Given the description of an element on the screen output the (x, y) to click on. 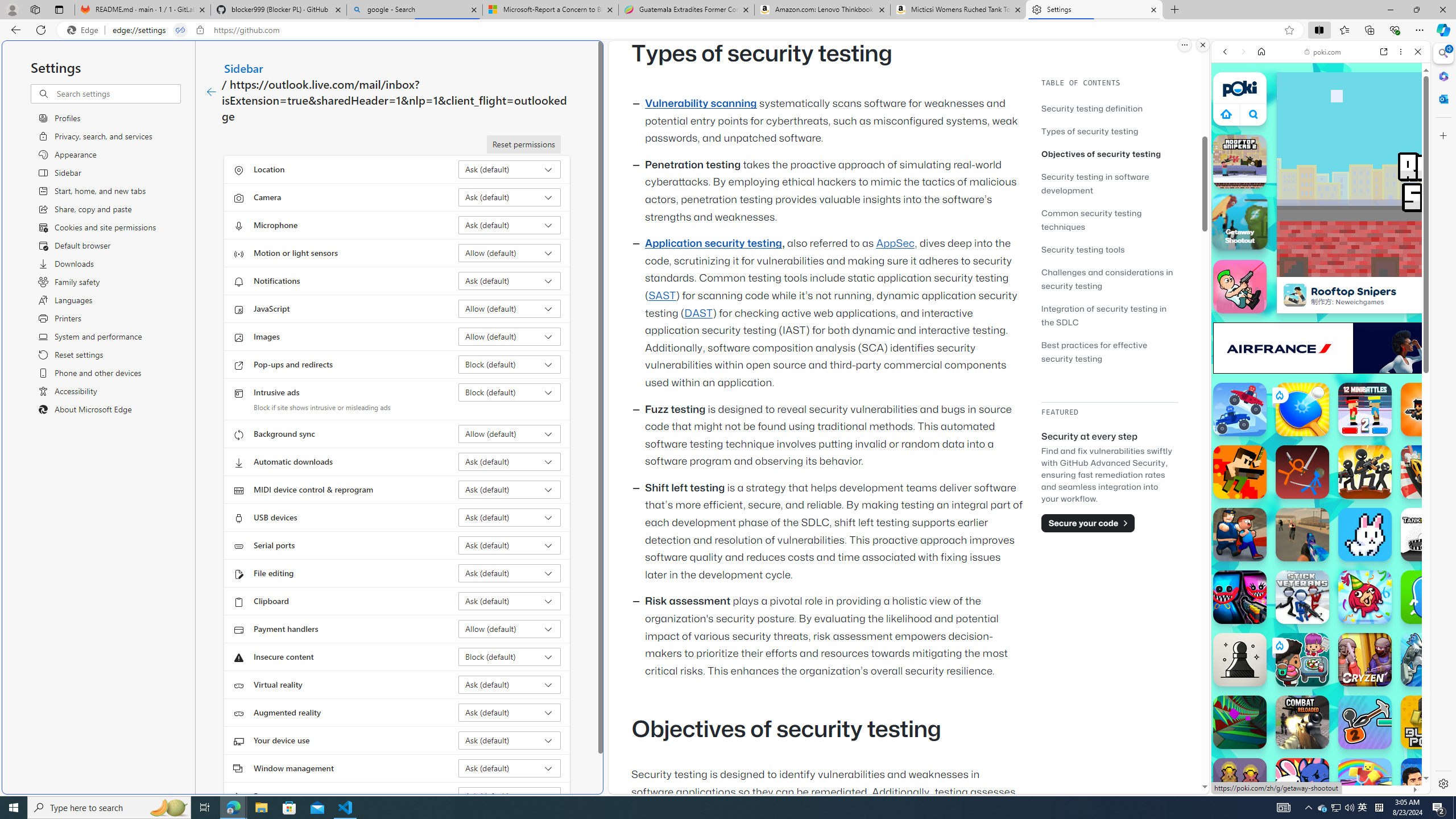
Two Player Games (1320, 323)
Combat Reloaded 2 Combat Reloaded 2 (1302, 534)
Tank Trouble (1427, 534)
Stick Defenders Stick Defenders (1364, 471)
Secure your code (1088, 522)
Cave Chaos (1239, 784)
G-Switch 4 (1427, 659)
Huggy Wuggy Shooter Huggy Wuggy Shooter (1239, 597)
Zombie Rush Zombie Rush (1427, 409)
Security testing in software development (1109, 183)
Security testing definition (1109, 108)
